Given the description of an element on the screen output the (x, y) to click on. 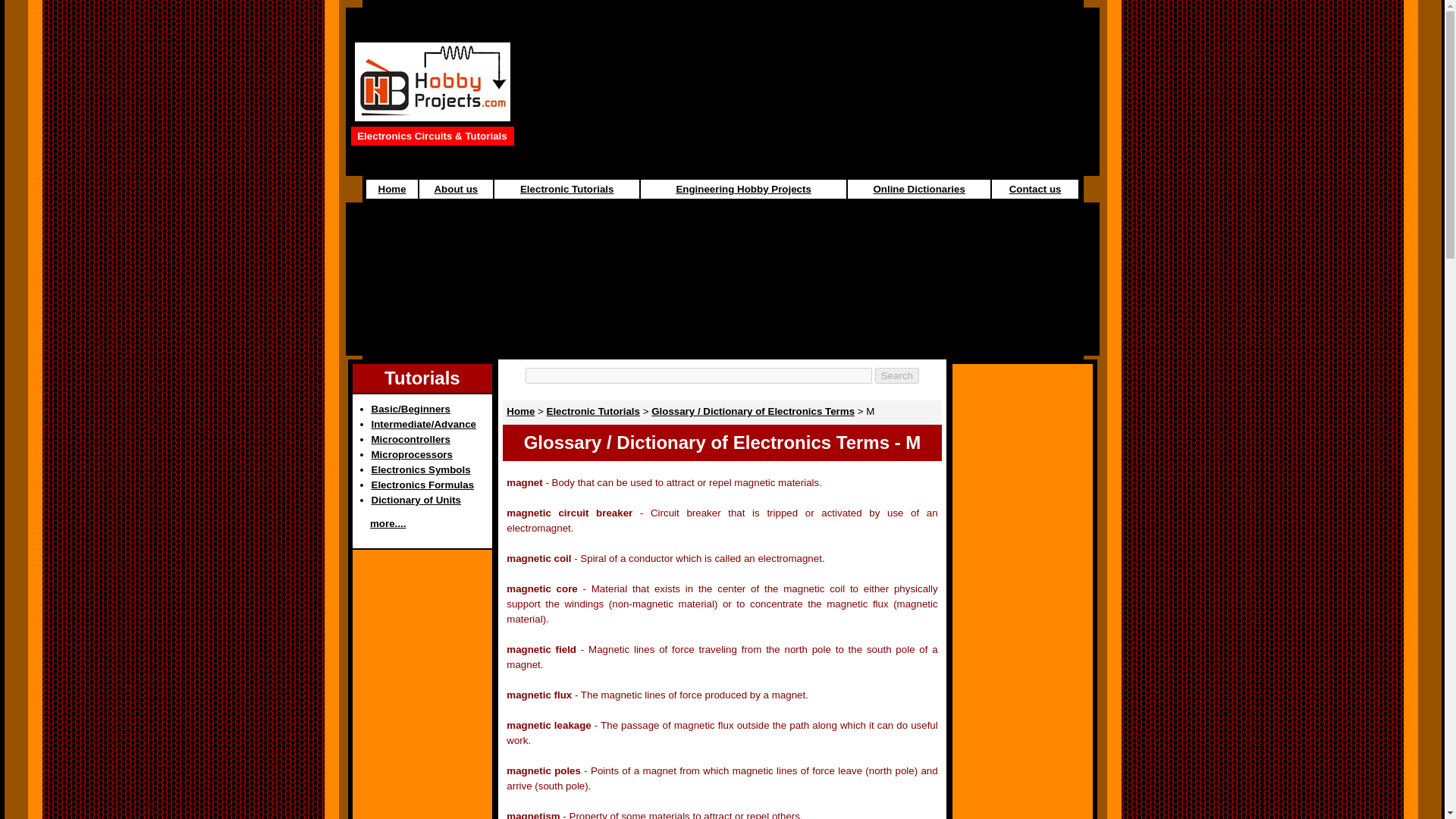
Microcontrollers (410, 439)
About us (455, 188)
Electronics Symbols (420, 469)
Engineering Hobby Projects (742, 188)
Online Dictionaries (917, 188)
Microprocessors (411, 454)
Electronic Tutorials (593, 410)
Electronics Formulas (422, 484)
Contact us (1035, 188)
more.... (387, 523)
Search (896, 375)
Home (520, 410)
Electronic Tutorials (565, 188)
Home (392, 188)
Advertisement (622, 320)
